Given the description of an element on the screen output the (x, y) to click on. 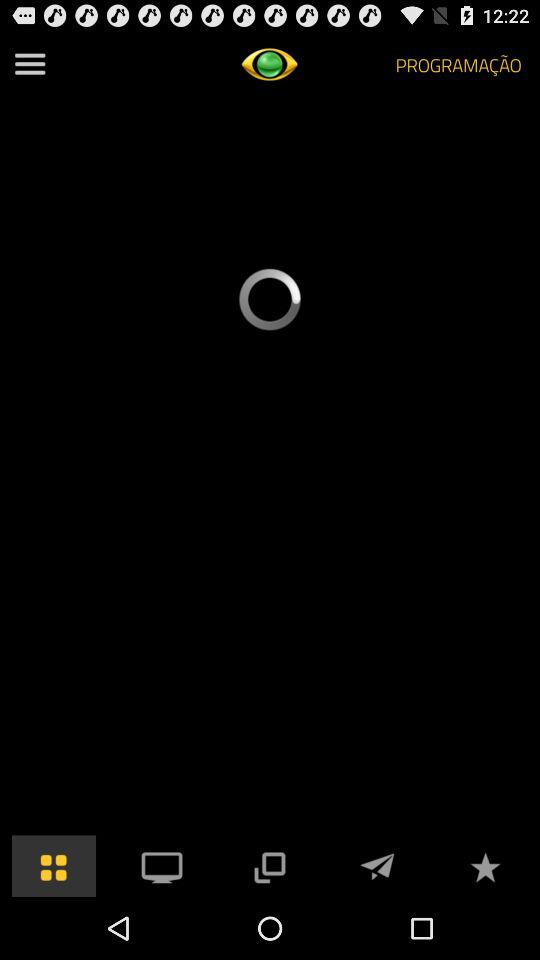
cast to tv (162, 865)
